Given the description of an element on the screen output the (x, y) to click on. 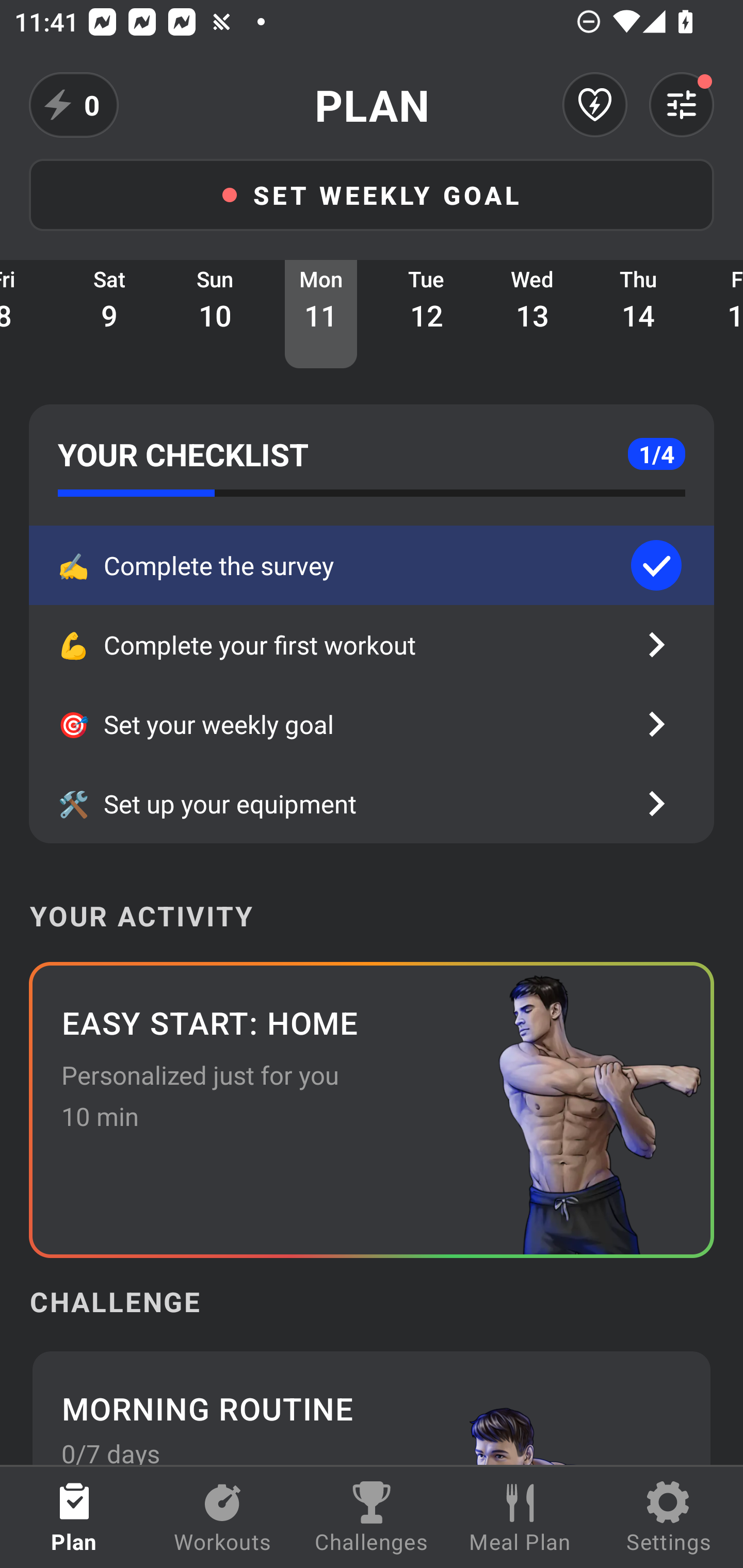
0 (73, 104)
SET WEEKLY GOAL (371, 194)
Sat 9 (109, 314)
Sun 10 (215, 314)
Mon 11 (320, 314)
Tue 12 (426, 314)
Wed 13 (532, 314)
Thu 14 (638, 314)
💪 Complete your first workout (371, 645)
🎯 Set your weekly goal (371, 724)
🛠️ Set up your equipment (371, 803)
EASY START: HOME Personalized just for you 10 min (371, 1109)
 Workouts  (222, 1517)
 Challenges  (371, 1517)
 Meal Plan  (519, 1517)
 Settings  (668, 1517)
